Given the description of an element on the screen output the (x, y) to click on. 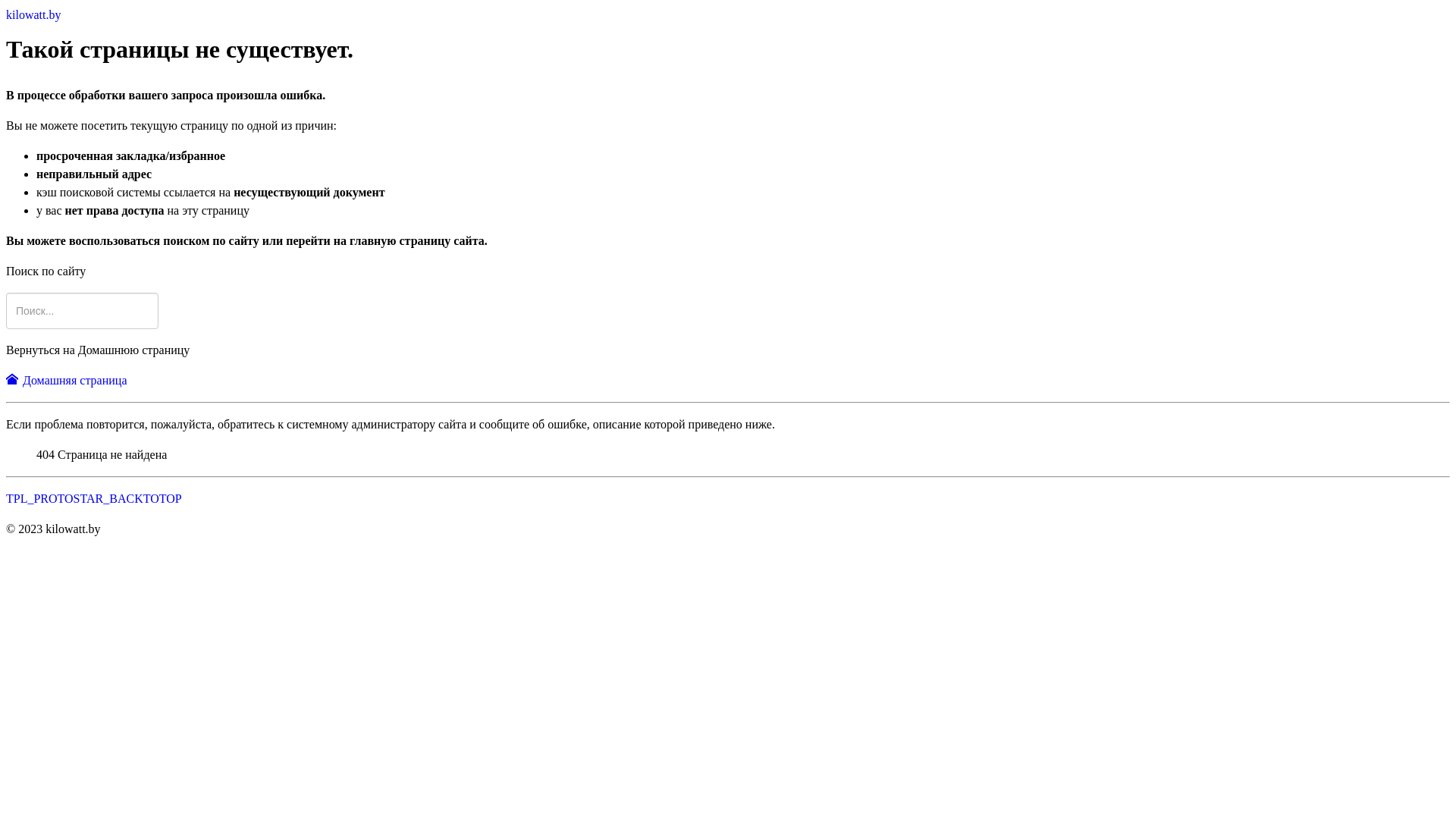
kilowatt.by Element type: text (33, 14)
TPL_PROTOSTAR_BACKTOTOP Element type: text (94, 498)
